Given the description of an element on the screen output the (x, y) to click on. 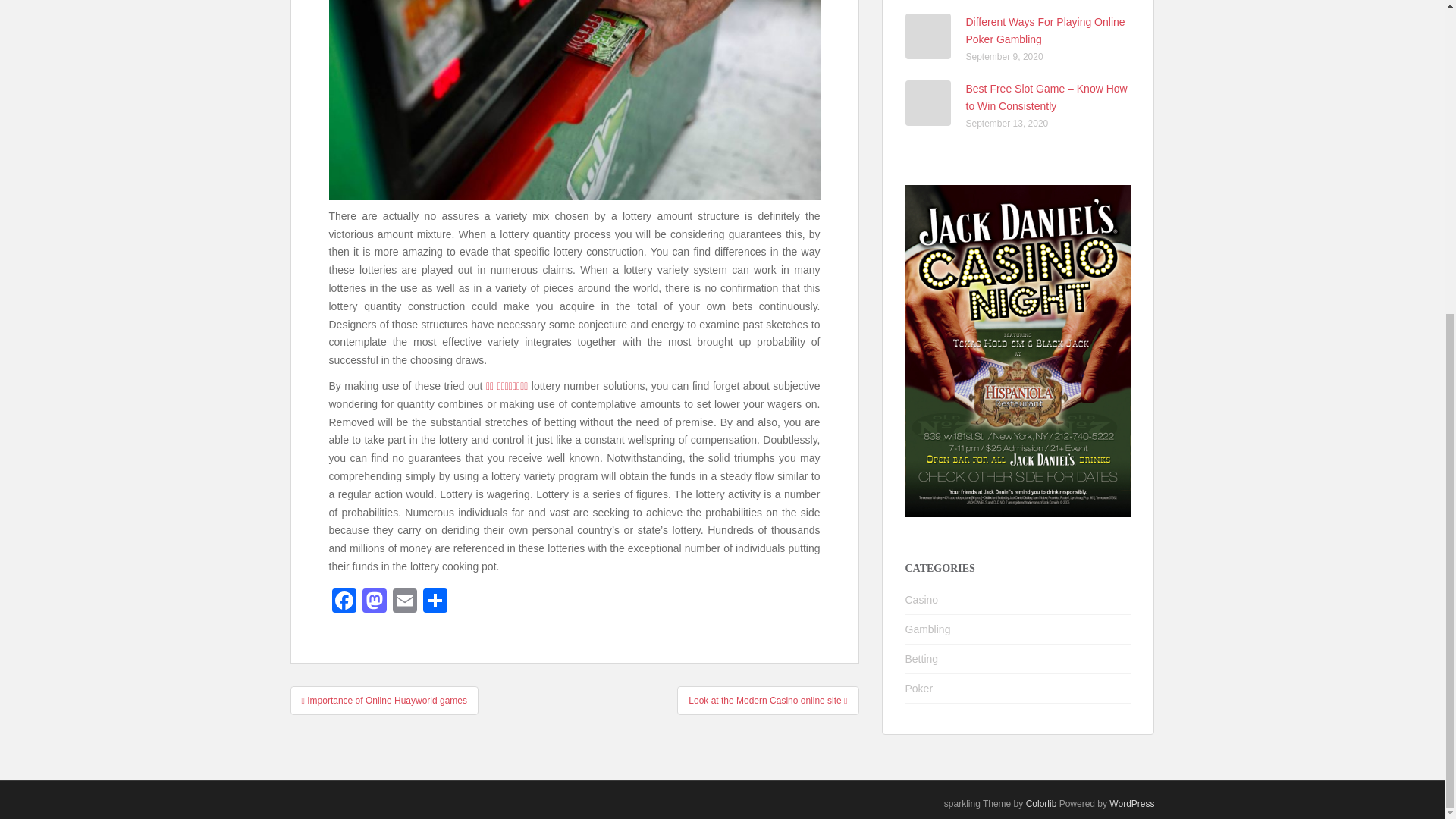
Casino (922, 599)
Colorlib (1041, 803)
Importance of Online Huayworld games (384, 700)
Email (405, 602)
Different Ways For Playing Online Poker Gambling (1045, 30)
Mastodon (374, 602)
Look at the Modern Casino online site (768, 700)
Gambling (927, 629)
Facebook (344, 602)
Betting (922, 658)
WordPress (1131, 803)
Poker (919, 688)
Mastodon (374, 602)
Facebook (344, 602)
Email (405, 602)
